Given the description of an element on the screen output the (x, y) to click on. 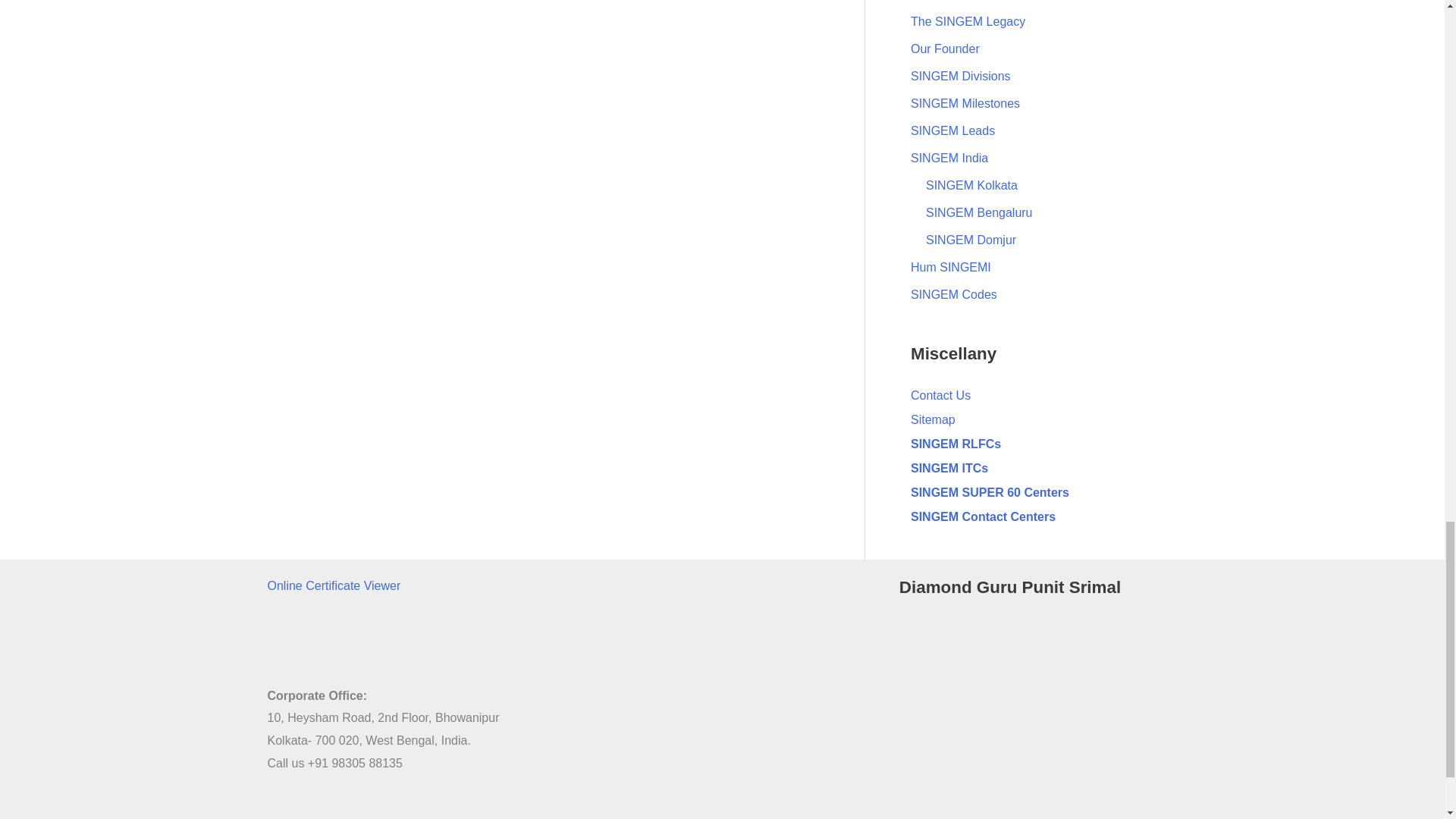
Diamond Guru Punit Srimal's Gateway to Diamonds- I (1038, 695)
